Given the description of an element on the screen output the (x, y) to click on. 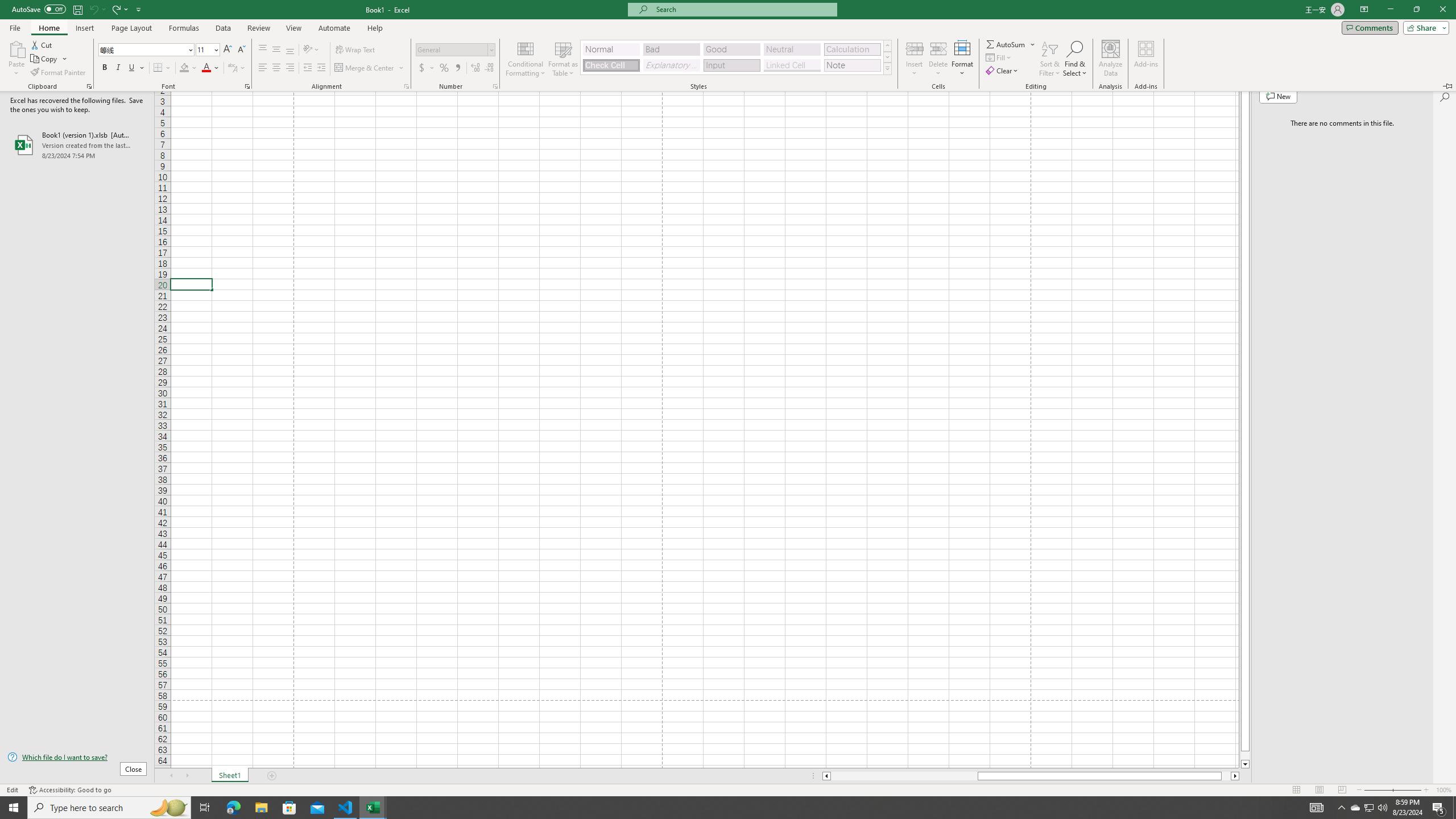
Quick Access Toolbar (77, 9)
Action Center, 5 new notifications (1439, 807)
AutomationID: 4105 (1316, 807)
Save (77, 9)
Class: NetUIScrollBar (1030, 775)
Zoom Out (1377, 790)
Zoom (1392, 790)
Accessibility Checker Accessibility: Good to go (70, 790)
Normal (1296, 790)
Page Break Preview (1342, 790)
System (6, 6)
Close (1442, 9)
Automate (334, 28)
Review (258, 28)
Microsoft search (742, 9)
